Given the description of an element on the screen output the (x, y) to click on. 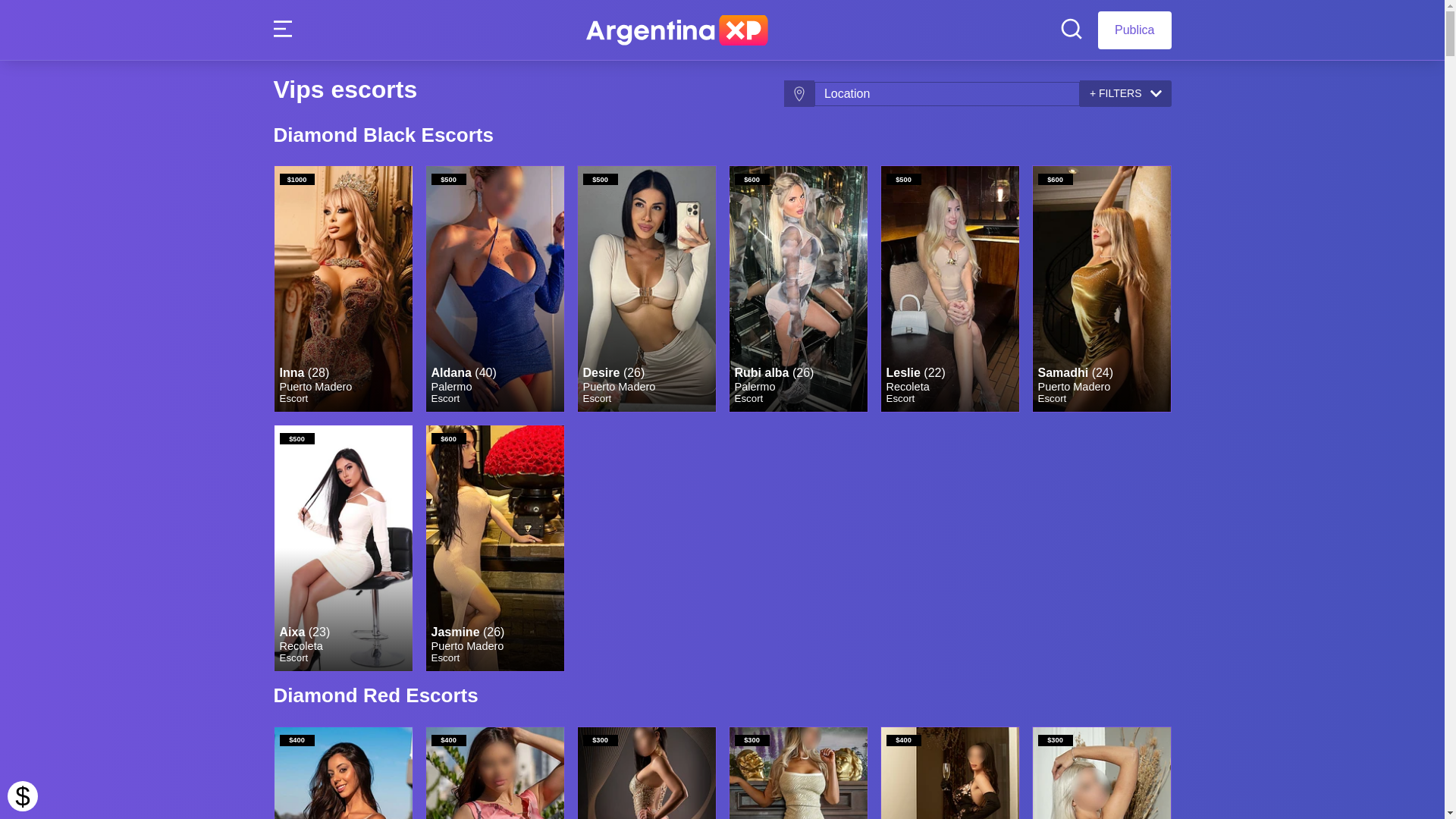
Recoleta Element type: text (300, 646)
Inna Diamond Black Element type: hover (343, 288)
Aldana Diamond Black Element type: hover (495, 288)
Jasmine Diamond Black Element type: hover (495, 548)
Rubi alba Diamond Black Element type: hover (798, 288)
Desire Diamond Black Element type: hover (646, 288)
Puerto Madero Element type: text (1073, 386)
+ FILTERS Element type: text (1125, 93)
Puerto Madero Element type: text (315, 386)
Puerto Madero Element type: text (618, 386)
Publica Element type: text (1134, 29)
Leslie Diamond Black Element type: hover (950, 288)
Palermo Element type: text (450, 386)
Recoleta Element type: text (906, 386)
Puerto Madero Element type: text (466, 646)
Aixa Diamond Black Element type: hover (343, 548)
ArgentinaXP Element type: hover (677, 30)
Samadhi Diamond Black Element type: hover (1101, 288)
Palermo Element type: text (754, 386)
